Given the description of an element on the screen output the (x, y) to click on. 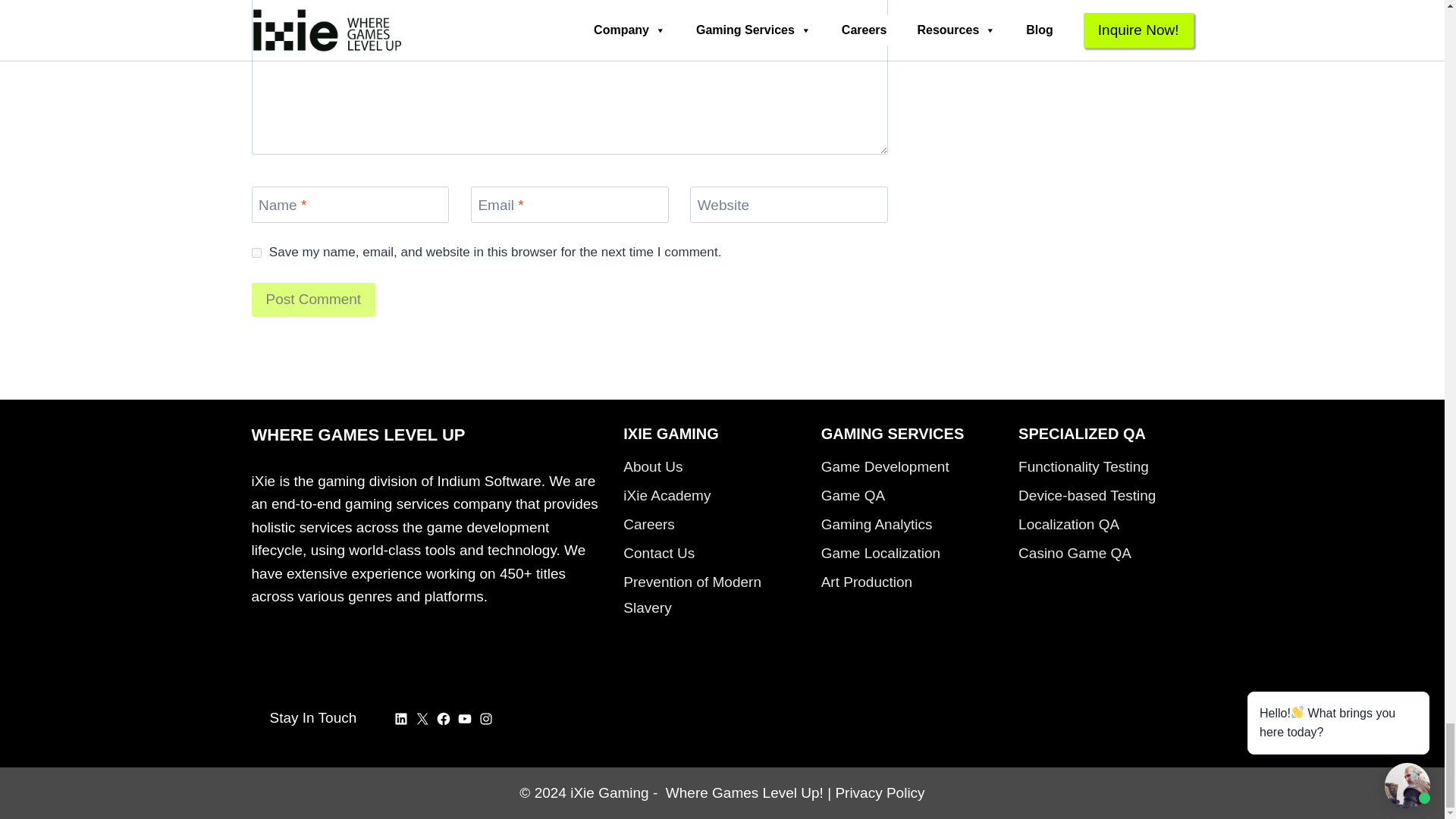
yes (256, 252)
Post Comment (313, 299)
